Given the description of an element on the screen output the (x, y) to click on. 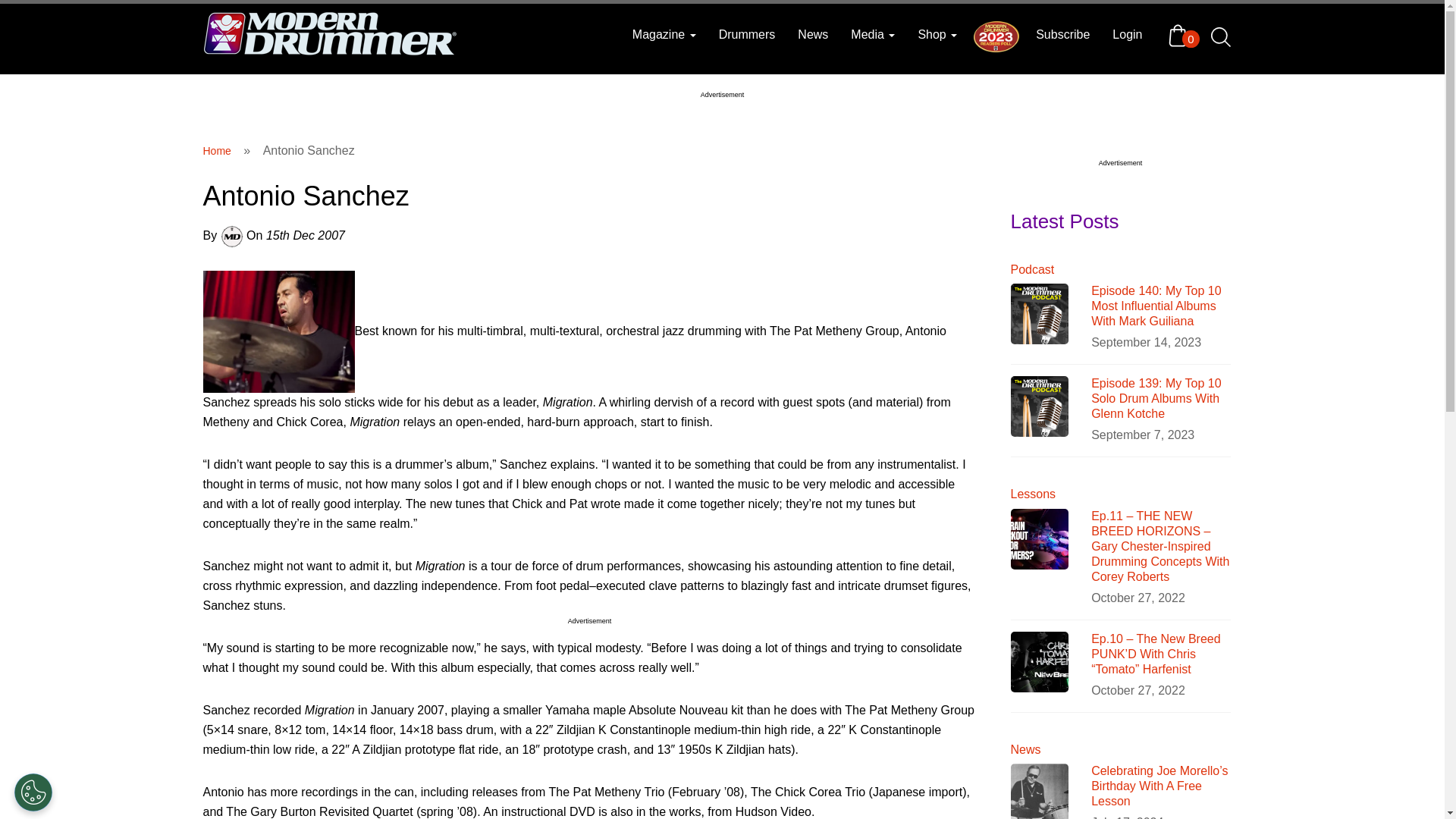
Shop (936, 34)
Subscribe (1062, 34)
subscribe (1062, 34)
Media (872, 34)
Magazine (664, 34)
View your Orders (1180, 35)
0 (1180, 35)
Drummers (747, 34)
